Given the description of an element on the screen output the (x, y) to click on. 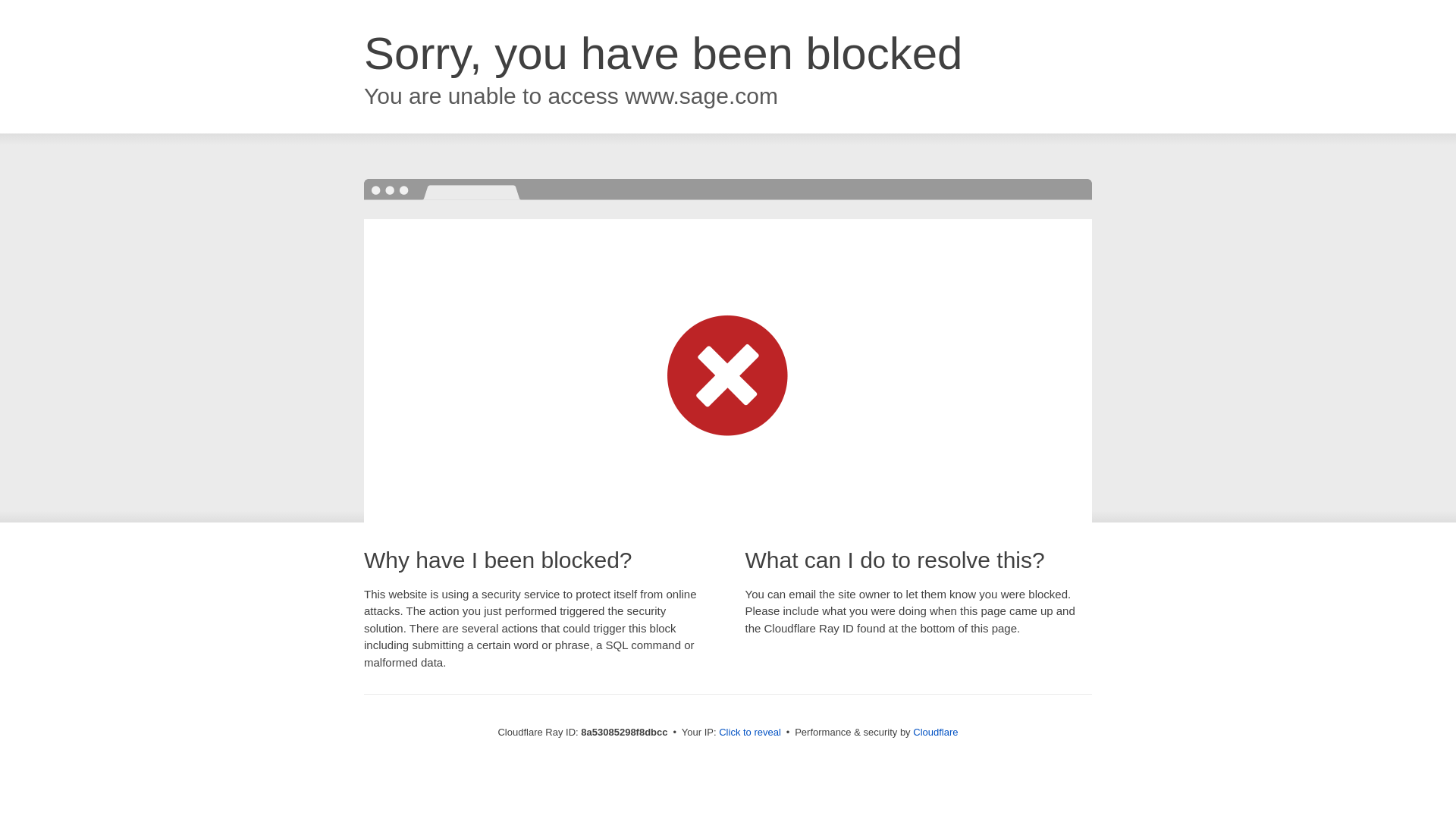
Click to reveal (749, 732)
Cloudflare (935, 731)
